Given the description of an element on the screen output the (x, y) to click on. 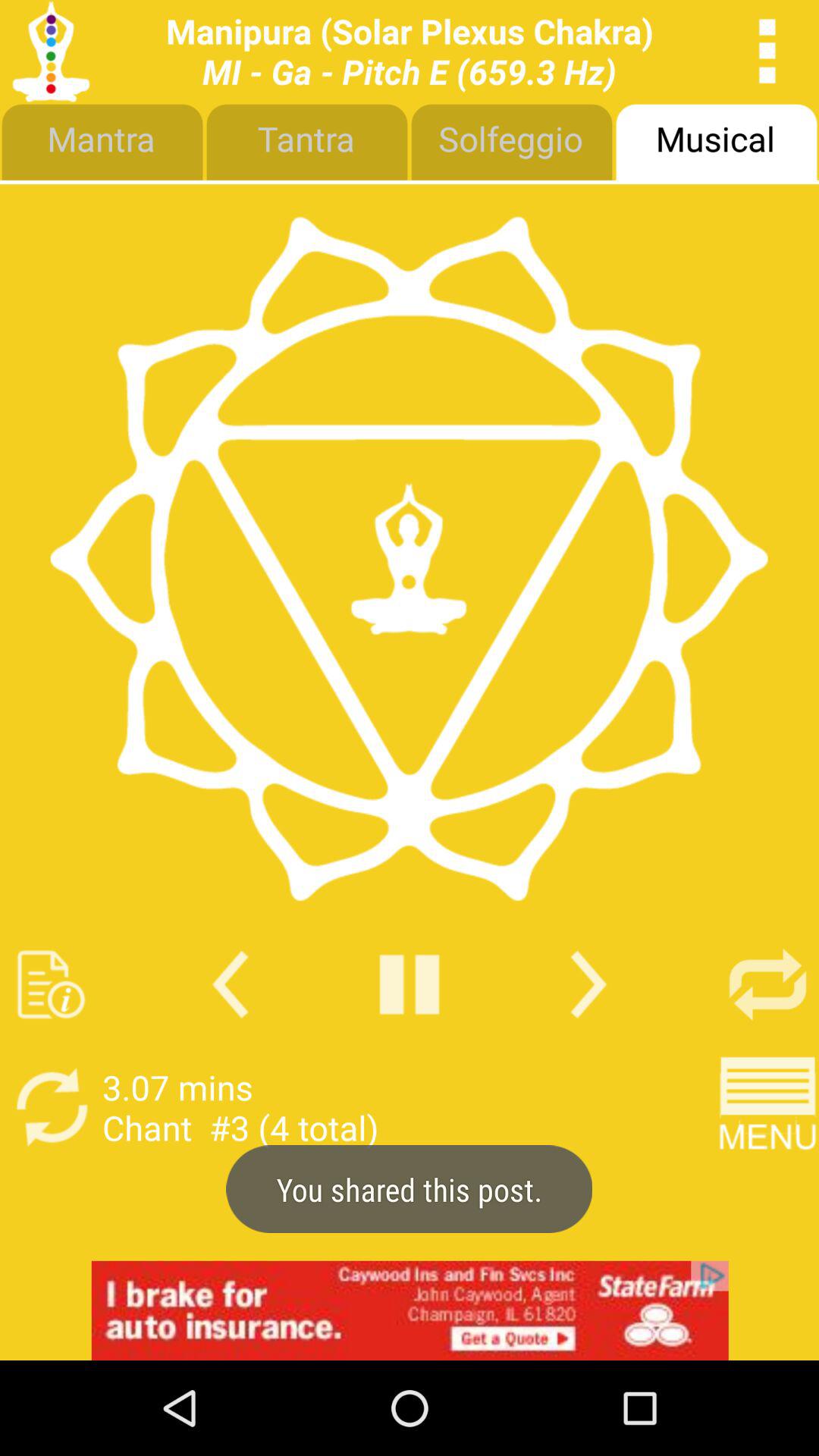
advertisement about caywood inc and fin swcs inc (409, 1310)
